Given the description of an element on the screen output the (x, y) to click on. 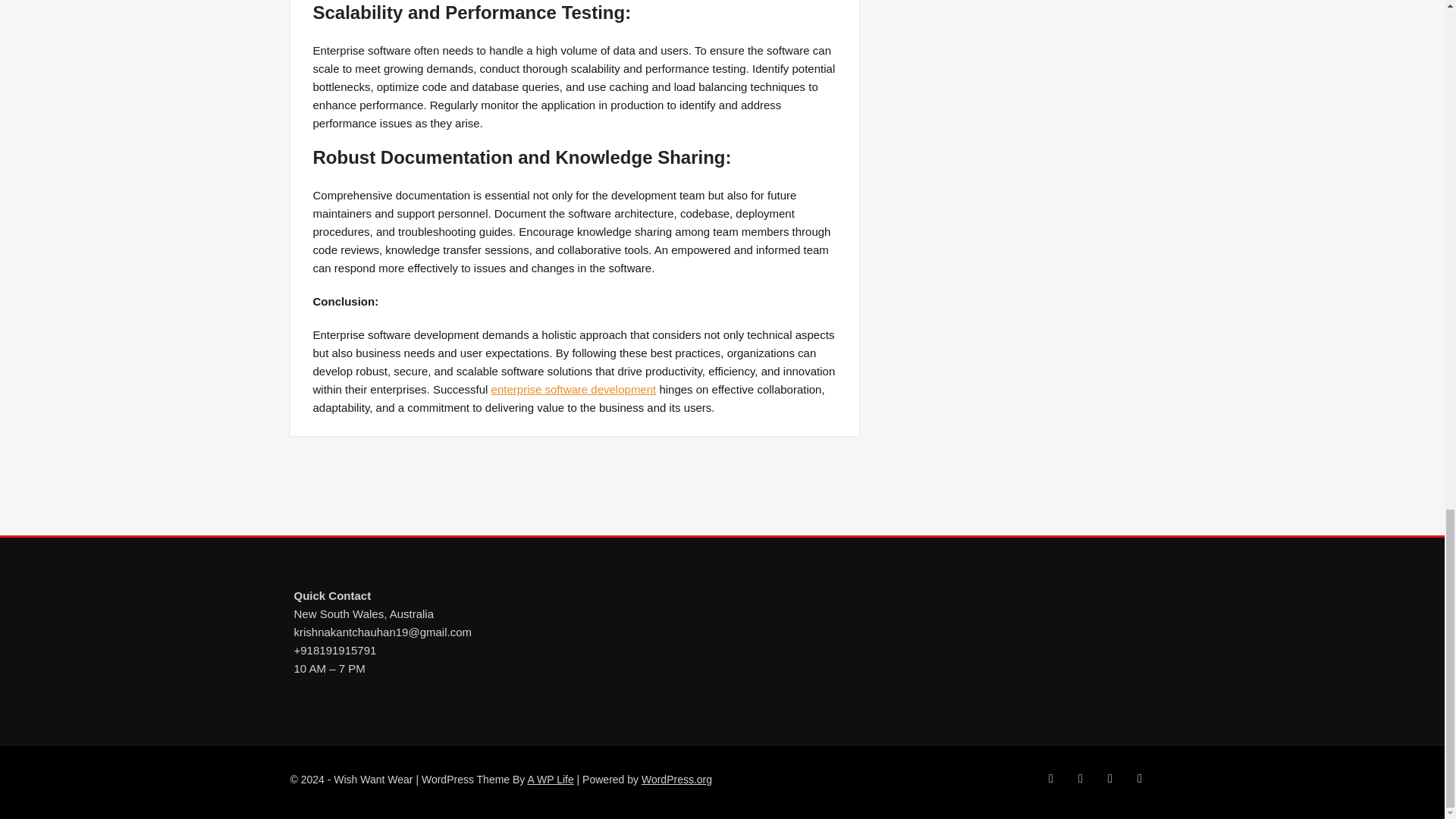
enterprise software development (574, 389)
